Given the description of an element on the screen output the (x, y) to click on. 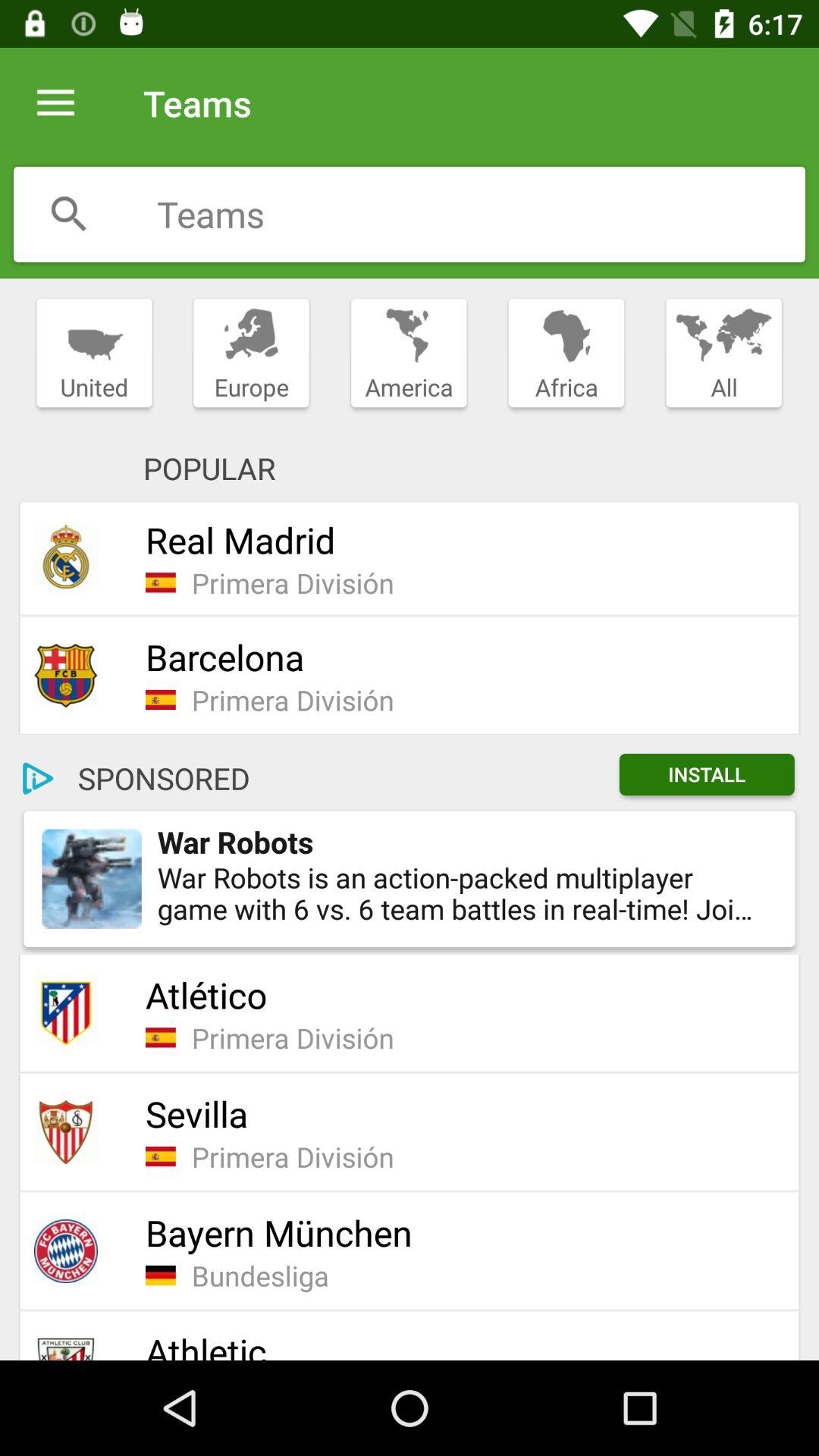
turn off item above the real madrid icon (408, 353)
